Given the description of an element on the screen output the (x, y) to click on. 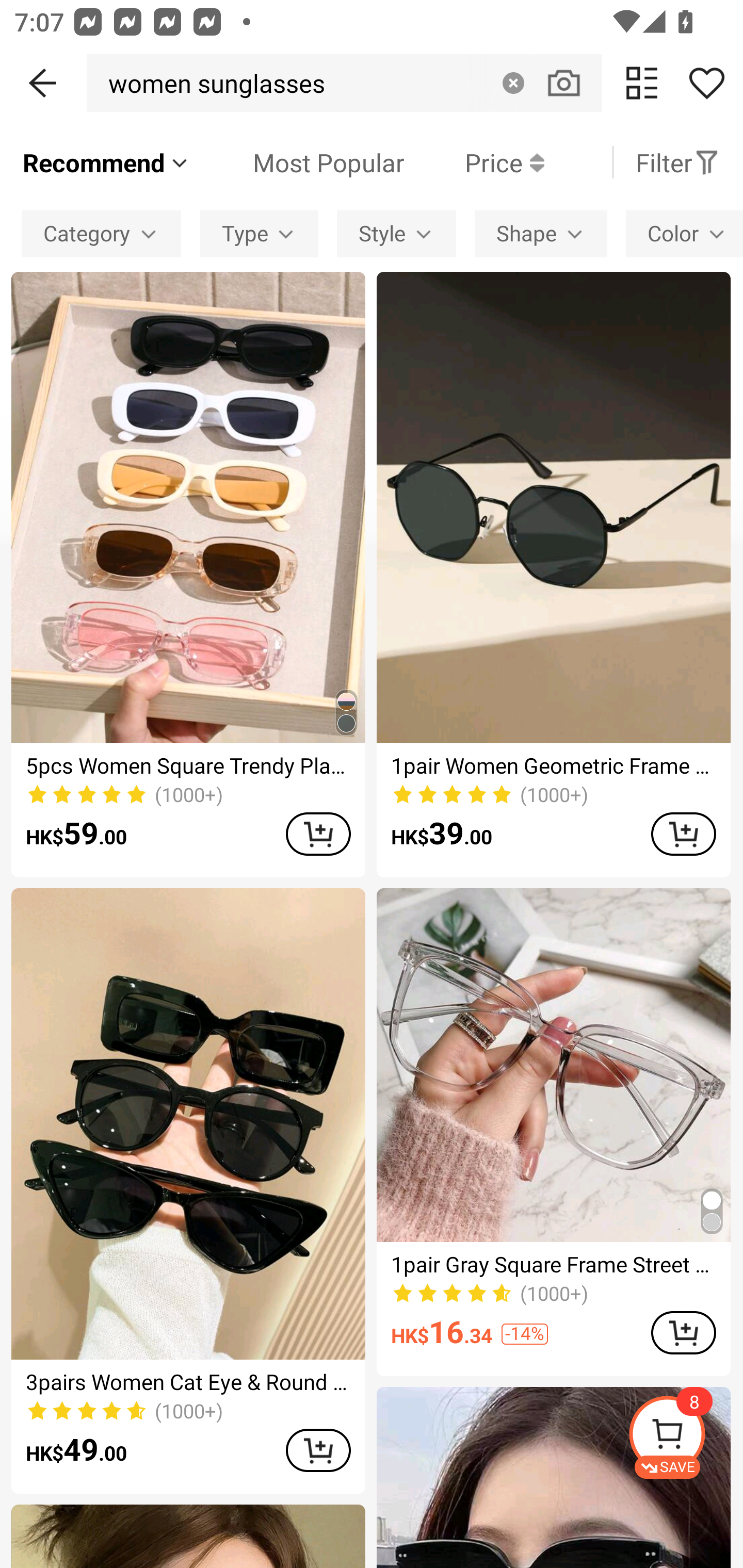
women sunglasses Clear (343, 82)
women sunglasses (210, 82)
Clear (513, 82)
change view (641, 82)
Share (706, 82)
Recommend (106, 162)
Most Popular (297, 162)
Price (474, 162)
Filter (677, 162)
Category (101, 233)
Type (258, 233)
Style (396, 233)
Shape (540, 233)
Color (684, 233)
ADD TO CART (318, 834)
ADD TO CART (683, 834)
ADD TO CART (683, 1332)
SAVE (685, 1436)
ADD TO CART (318, 1450)
